Given the description of an element on the screen output the (x, y) to click on. 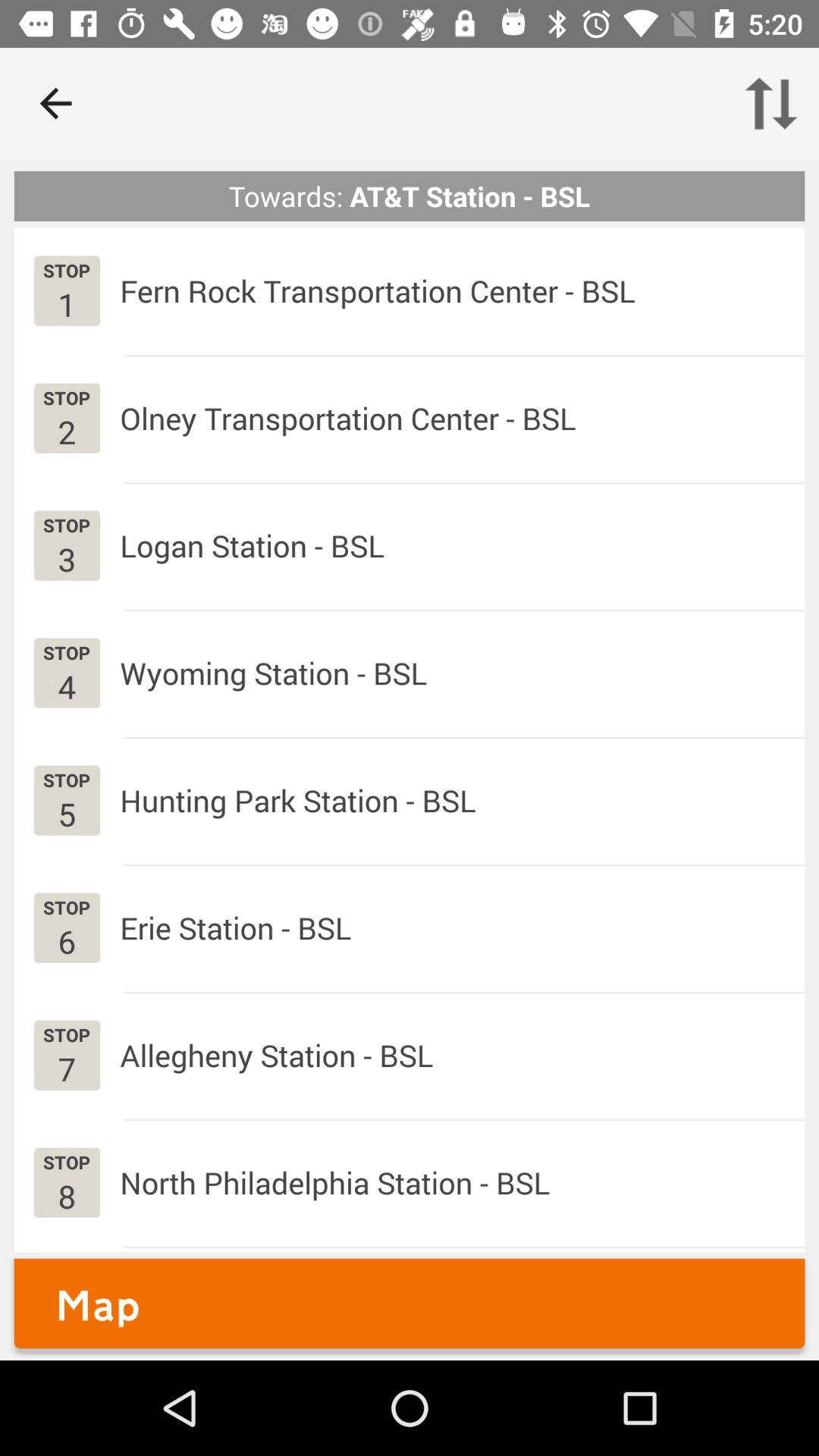
scroll until the 7 item (66, 1068)
